Given the description of an element on the screen output the (x, y) to click on. 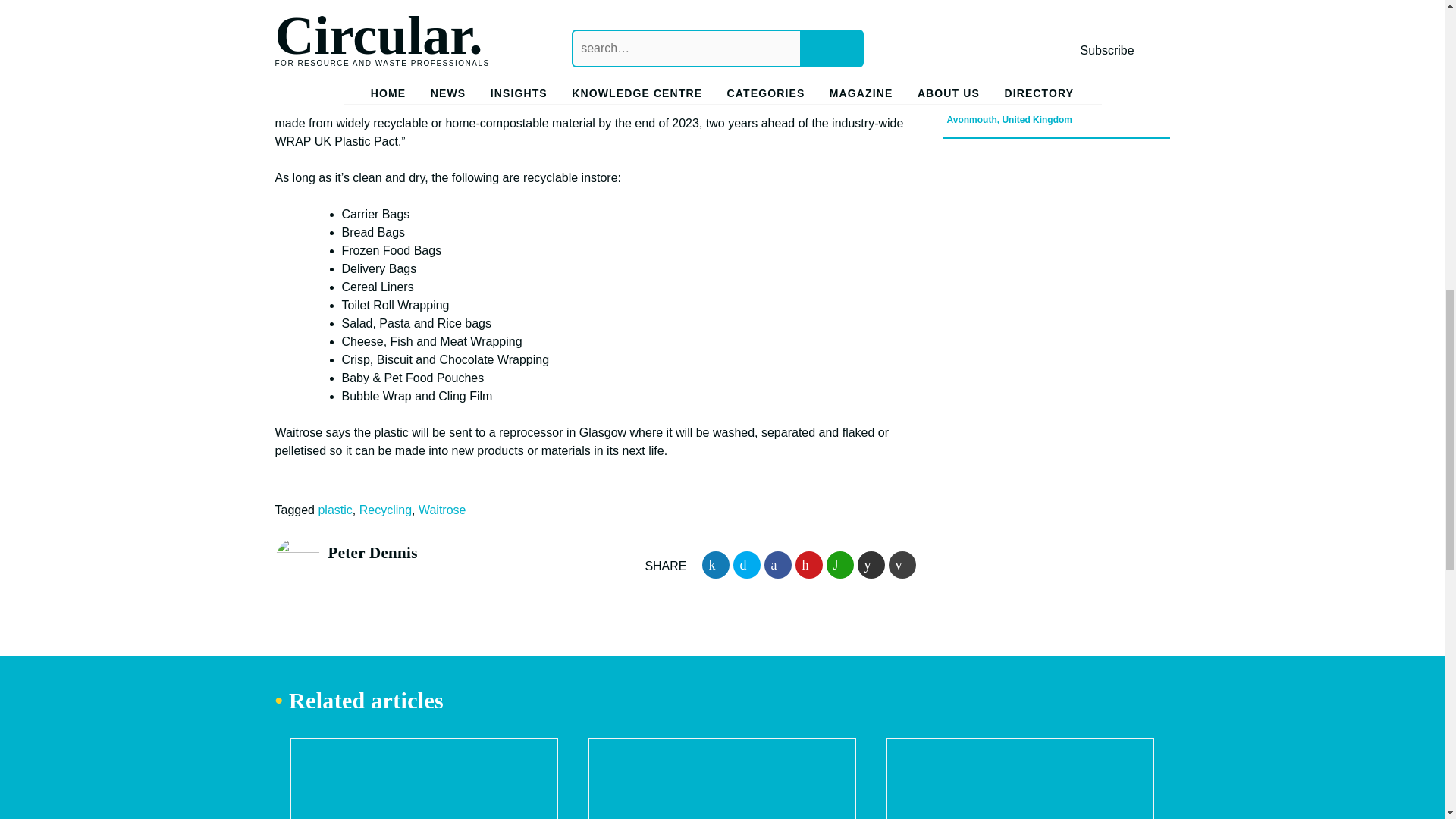
Share on LinkedIn (715, 564)
Share on WhatsApp (840, 564)
Share on Facebook (778, 564)
Share on Pinterest (808, 564)
Share on Email (901, 564)
Share on Twitter (746, 564)
Share on Reddit (870, 564)
